Given the description of an element on the screen output the (x, y) to click on. 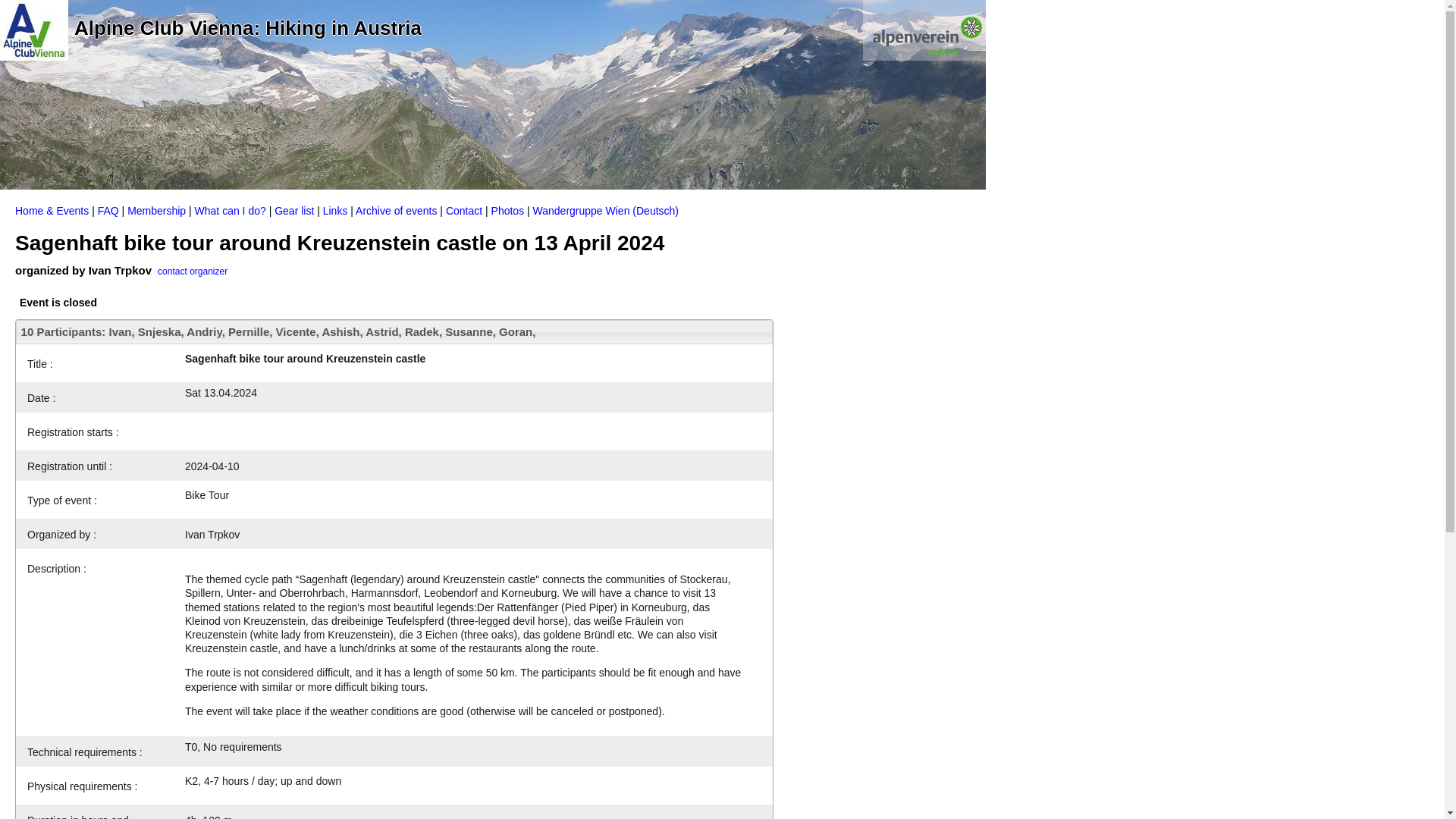
Links (335, 210)
Photos (508, 210)
FAQ (108, 210)
Gear list (294, 210)
Membership (157, 210)
Contact (463, 210)
Archive of events (395, 210)
contact organizer (192, 270)
What can I do? (230, 210)
